Given the description of an element on the screen output the (x, y) to click on. 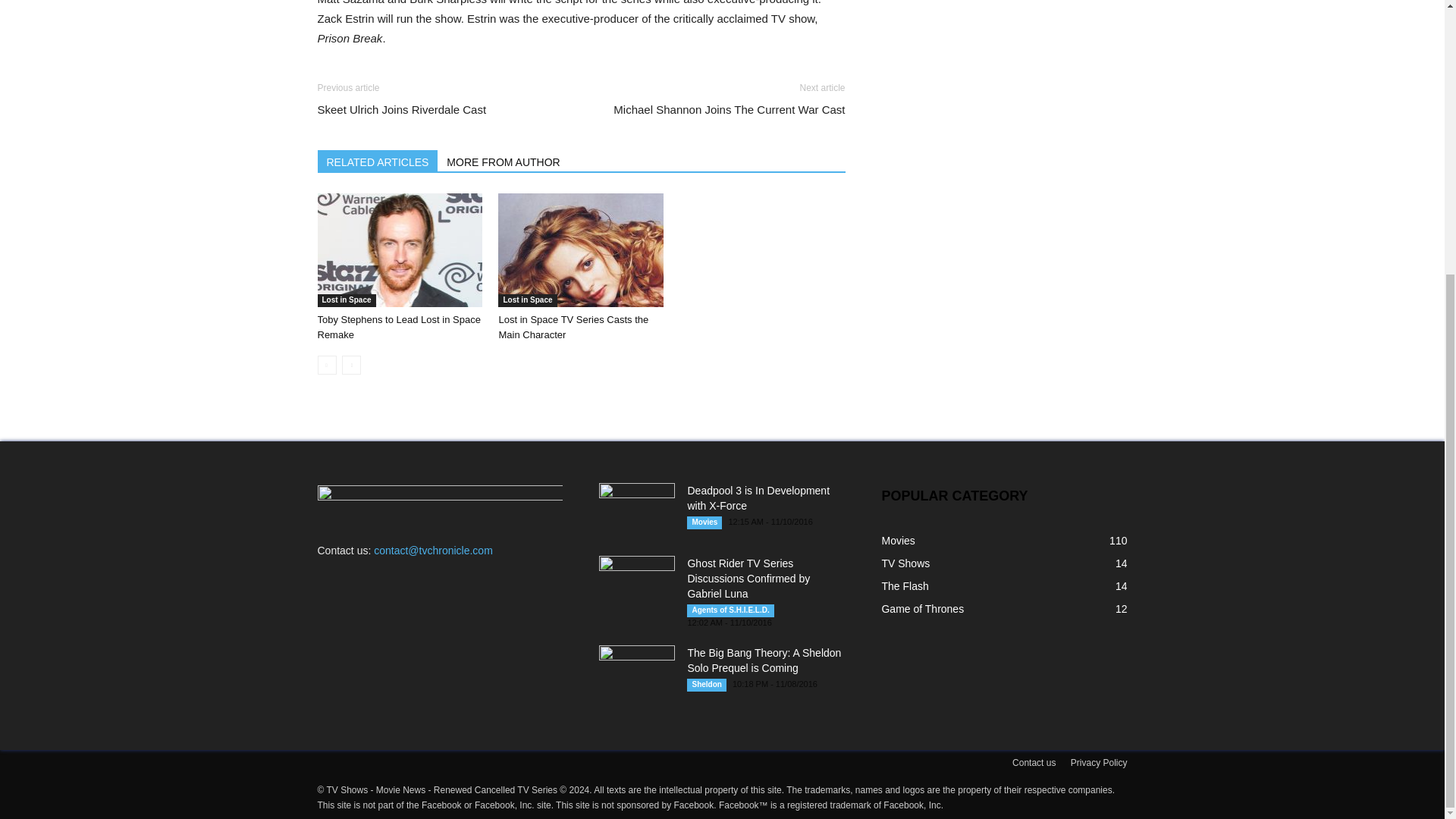
Michael Shannon Joins The Current War Cast (728, 109)
Toby Stephens to Lead Lost in Space Remake (398, 326)
Lost in Space (526, 300)
Lost in Space TV Series Casts the Main Character (572, 326)
Toby Stephens to Lead Lost in Space Remake (398, 326)
Skeet Ulrich Joins Riverdale Cast (401, 109)
Deadpool 3 is In Development with X-Force (758, 497)
Lost in Space (346, 300)
Lost in Space TV Series Casts the Main Character (572, 326)
MORE FROM AUTHOR (503, 160)
Deadpool 3 is In Development with X-Force (636, 509)
RELATED ARTICLES (377, 160)
Toby Stephens to Lead Lost in Space Remake (399, 250)
Lost in Space TV Series Casts the Main Character (580, 250)
